Given the description of an element on the screen output the (x, y) to click on. 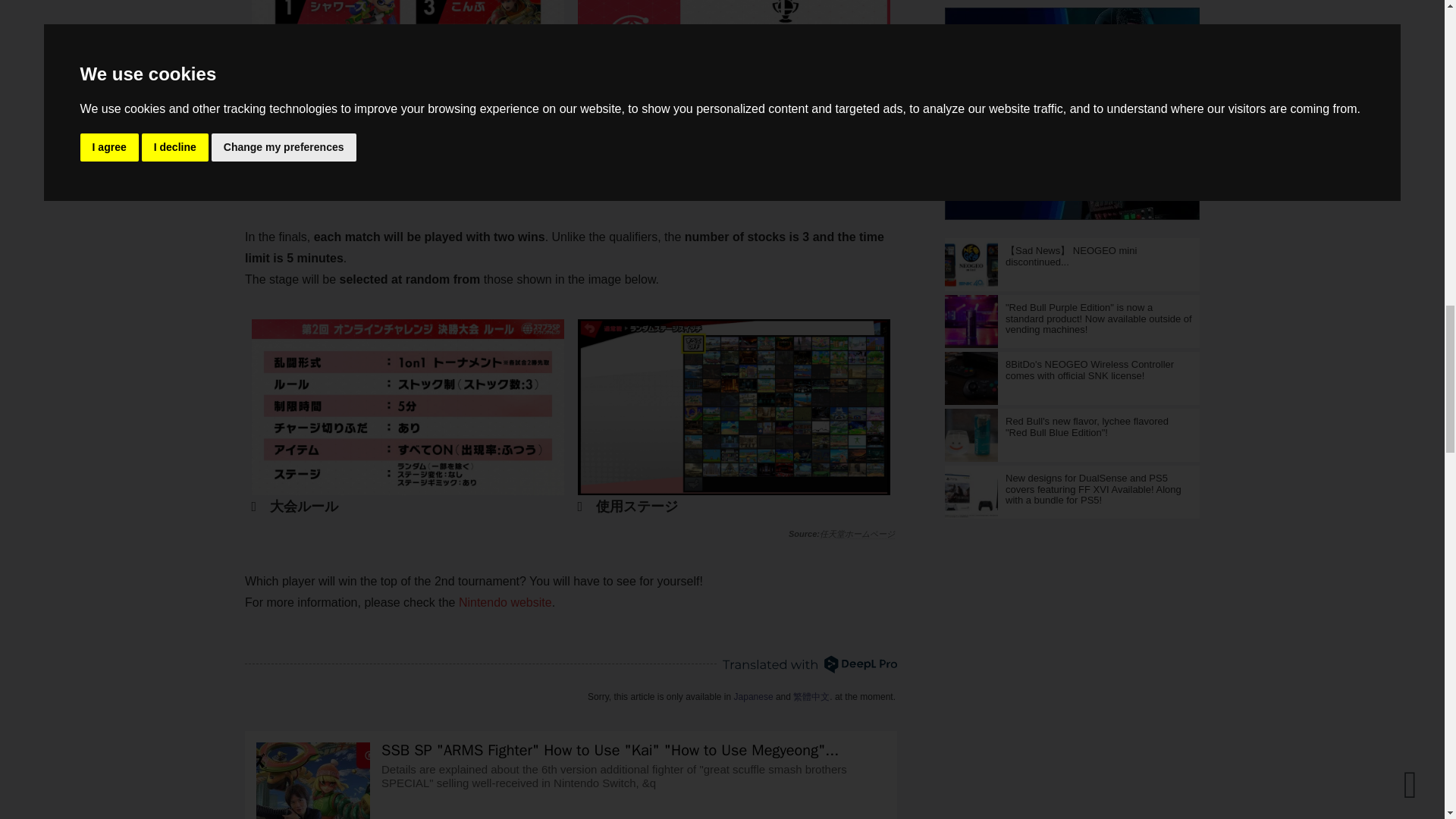
Japanese (753, 696)
Nintendo website (504, 603)
